Given the description of an element on the screen output the (x, y) to click on. 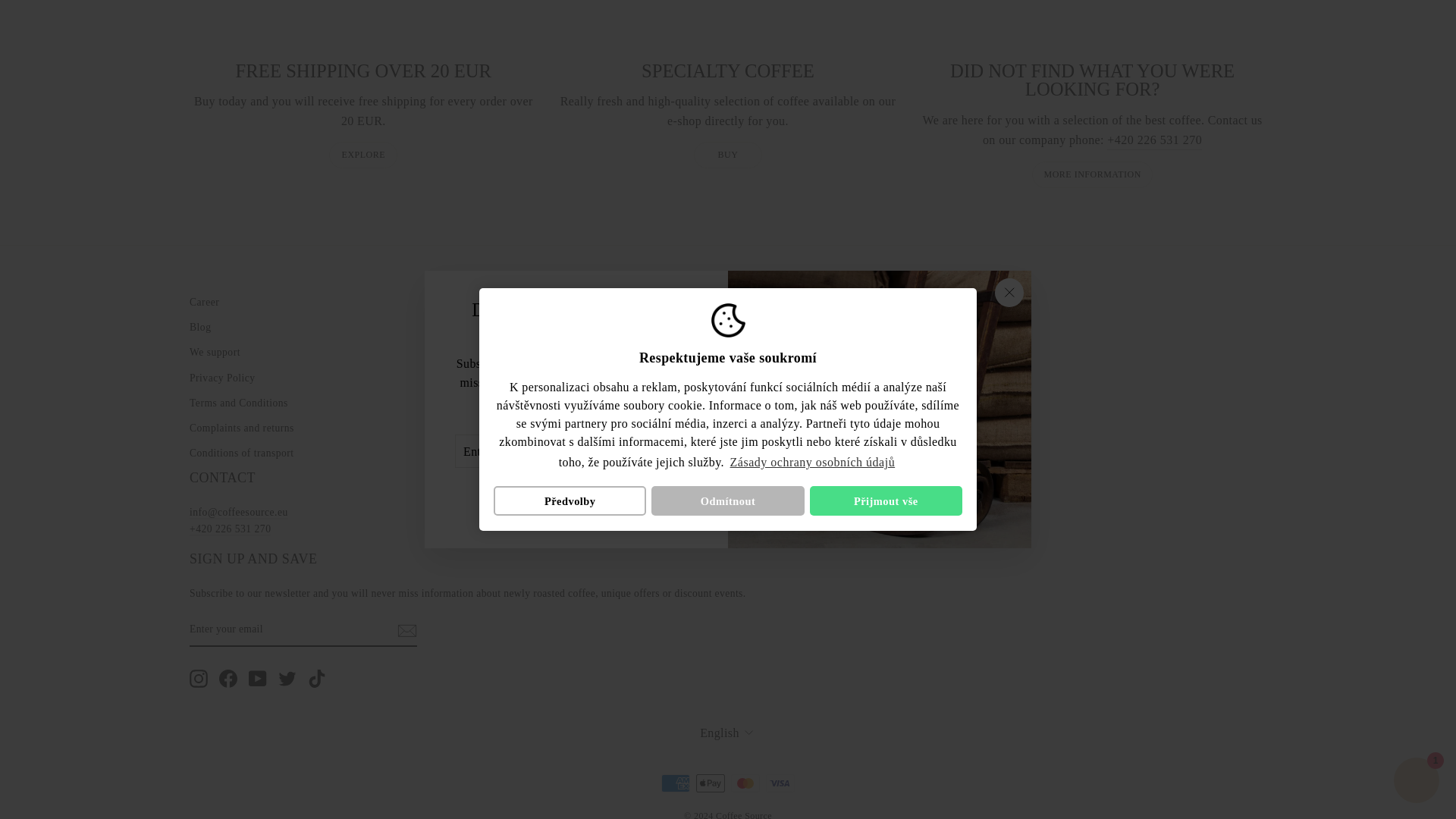
American Express (675, 782)
